Given the description of an element on the screen output the (x, y) to click on. 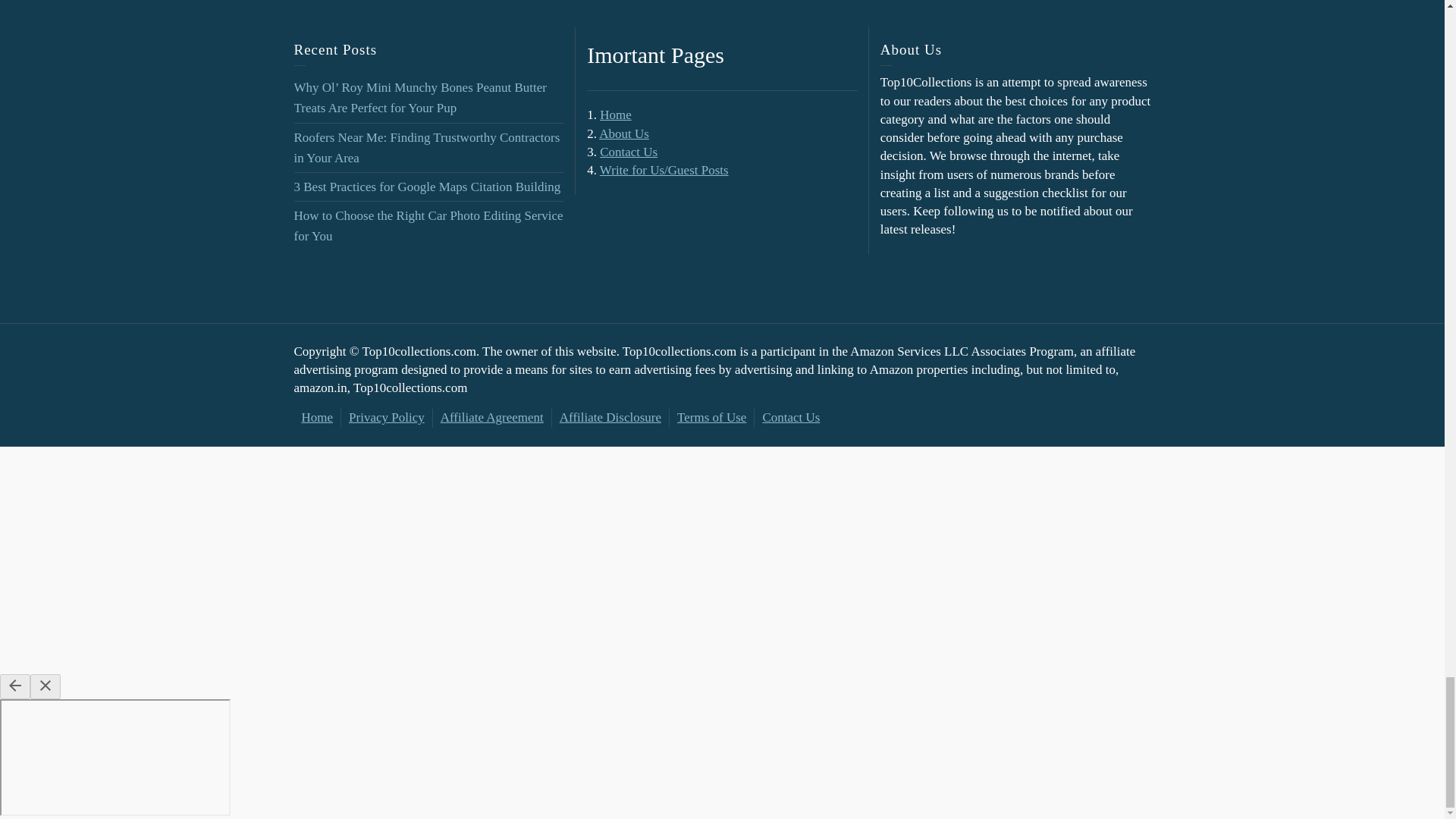
Home (615, 114)
3 Best Practices for Google Maps Citation Building (427, 186)
How to Choose the Right Car Photo Editing Service for You (428, 225)
